Given the description of an element on the screen output the (x, y) to click on. 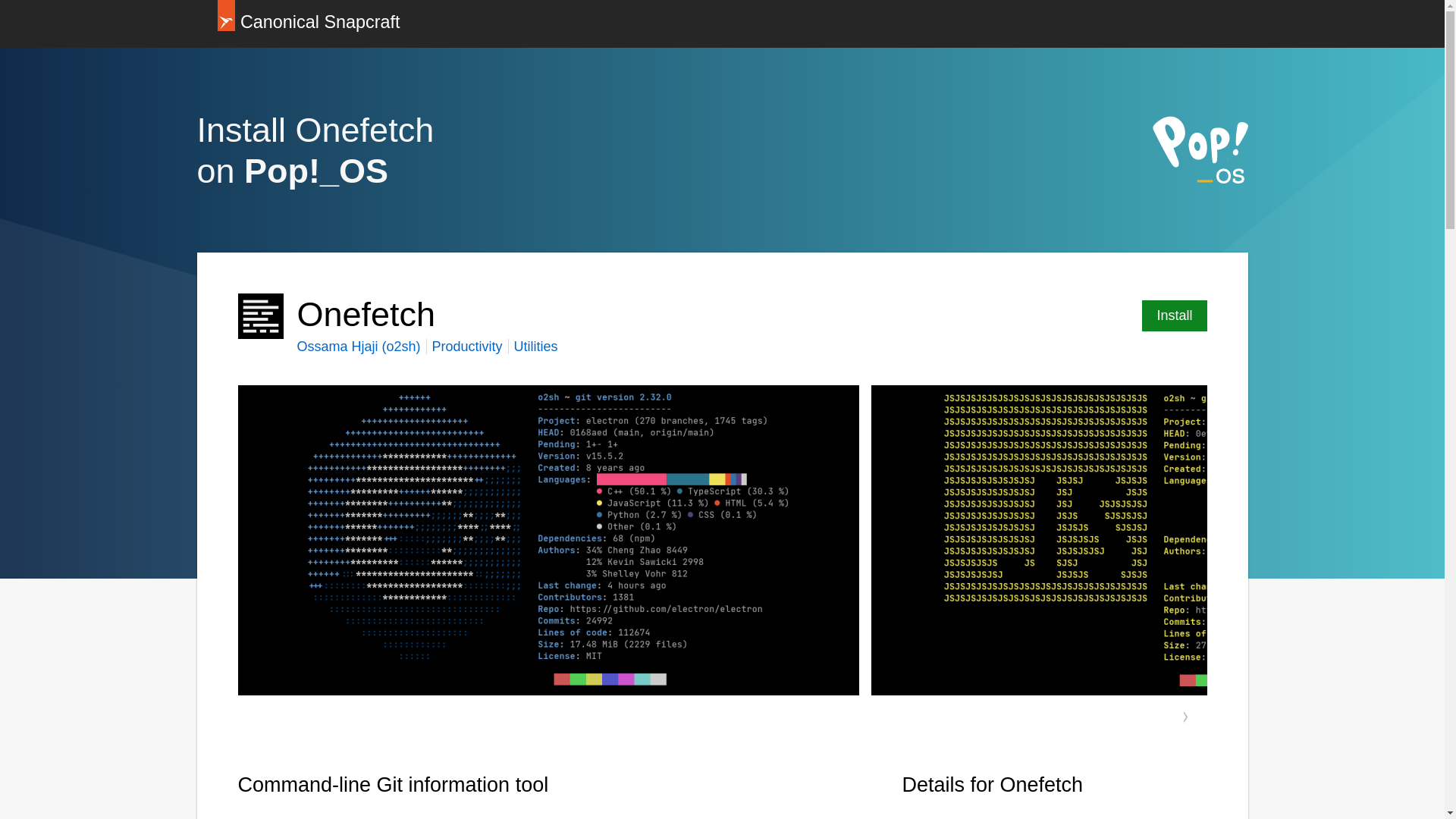
Next (1185, 716)
Productivity (467, 346)
Canonical Snapcraft (307, 23)
Utilities (535, 346)
Install (1174, 315)
